Given the description of an element on the screen output the (x, y) to click on. 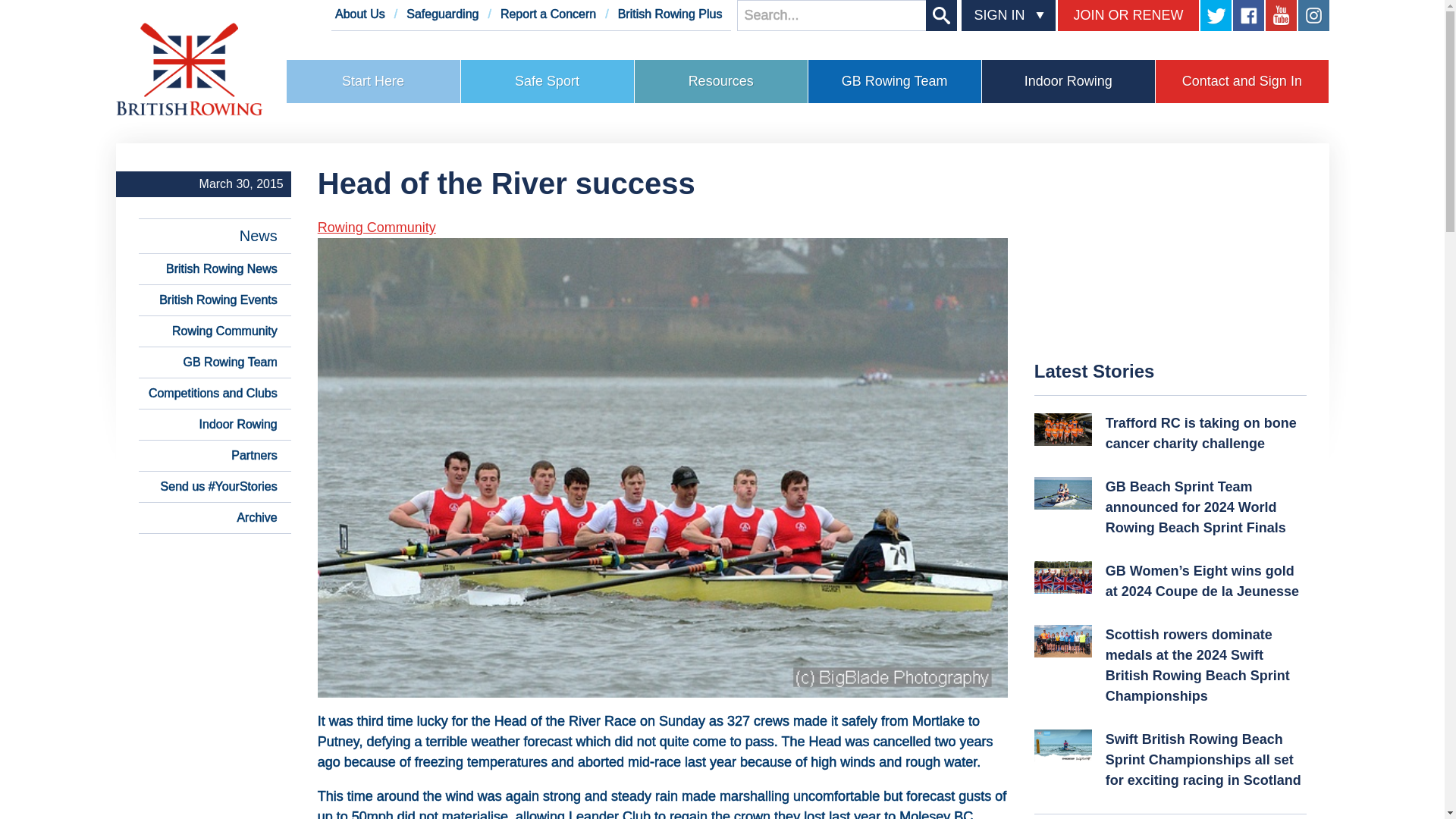
Contact and Sign In (1241, 81)
Safe Sport (547, 81)
Safeguarding (442, 13)
facebook (1248, 15)
GB Rowing Team (894, 81)
twitter (1214, 15)
About Us (359, 13)
Indoor Rowing (1067, 81)
British Rowing Plus (669, 13)
Start Here (373, 81)
